Given the description of an element on the screen output the (x, y) to click on. 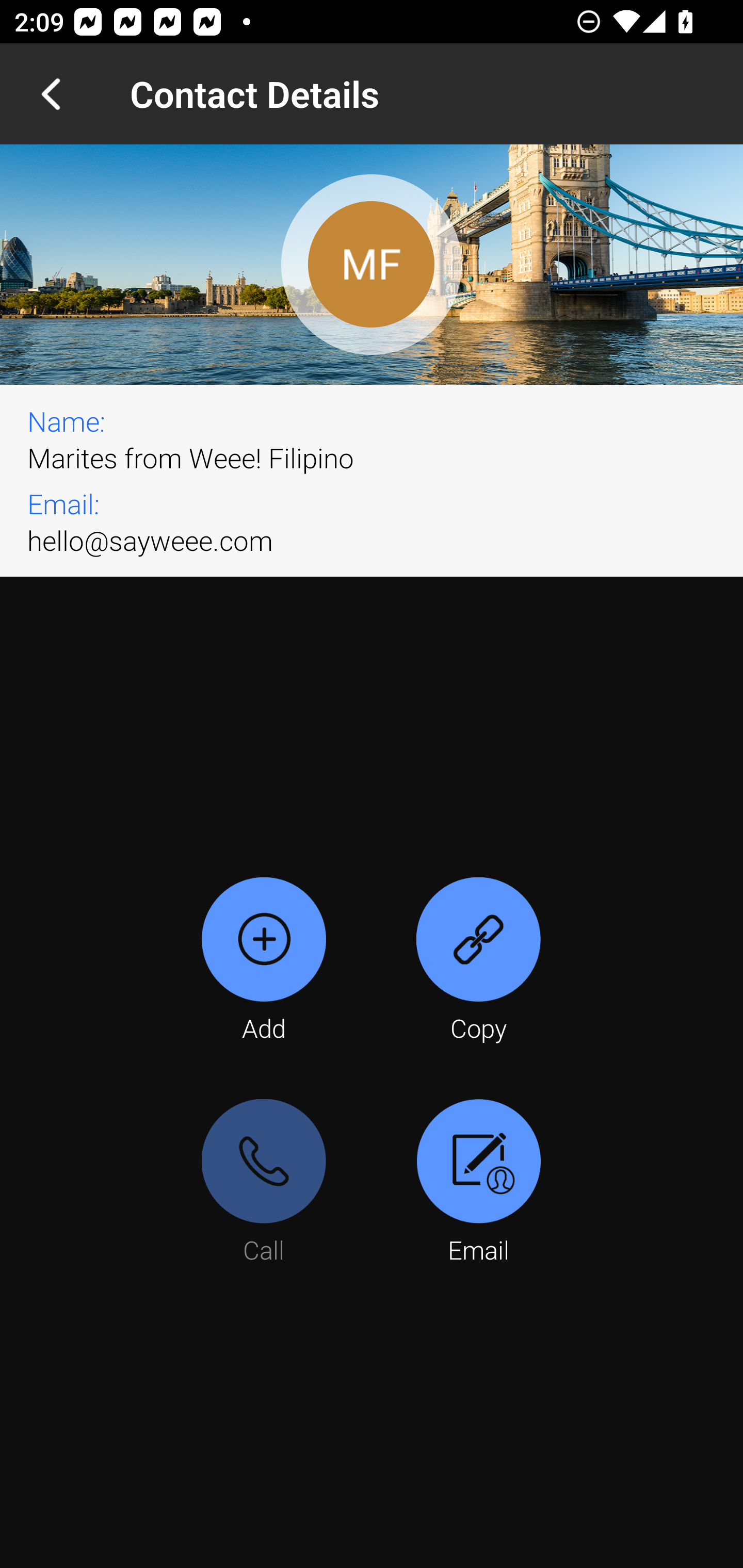
Navigate up (50, 93)
Add (264, 961)
Copy (478, 961)
Call (264, 1182)
Email (478, 1182)
